Given the description of an element on the screen output the (x, y) to click on. 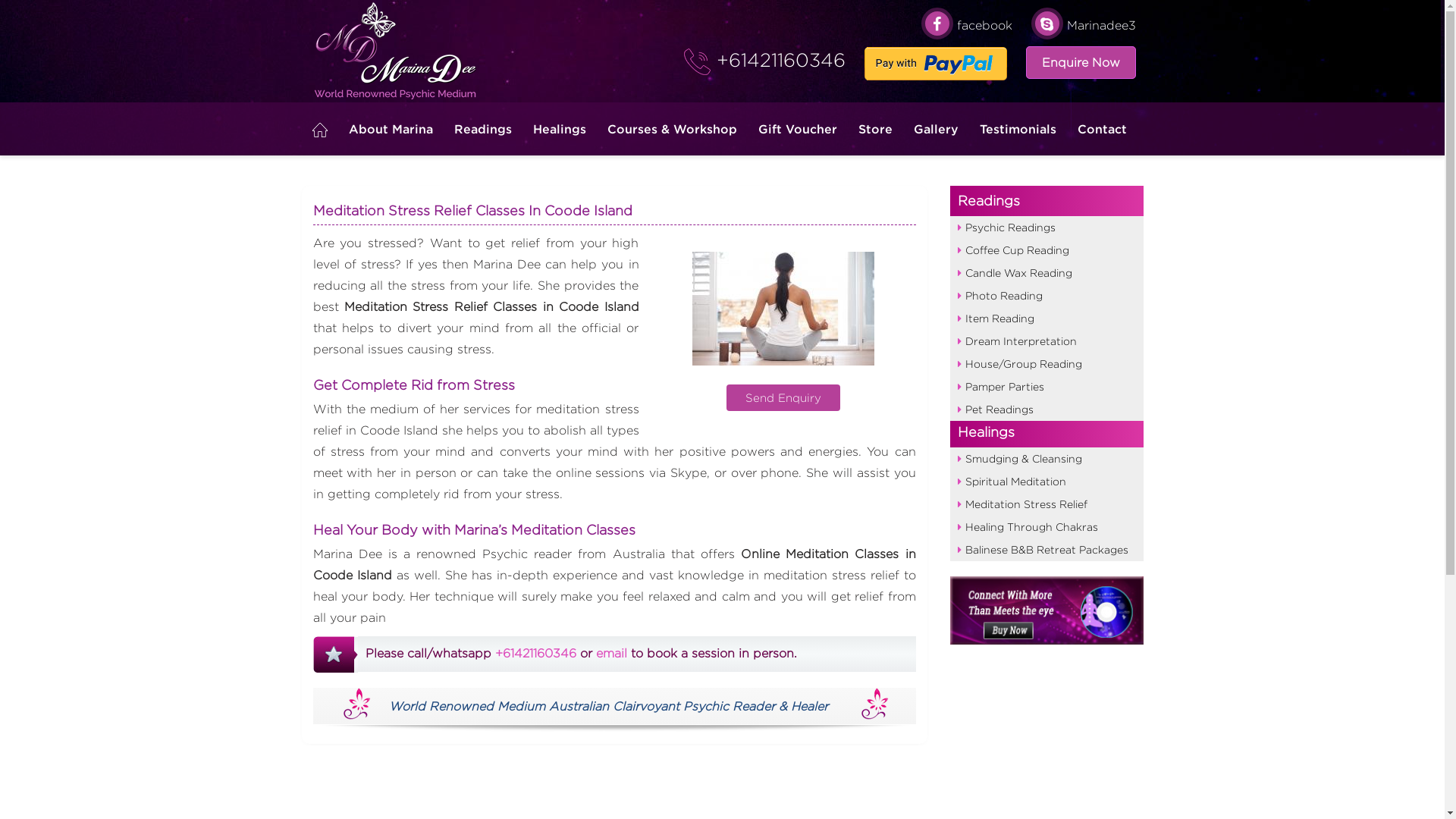
Marina Dee - Best Australian Clairvoyant Element type: hover (396, 51)
Meditation Stress Relief Element type: text (1045, 503)
Gallery Element type: text (935, 128)
Pamper Parties Element type: text (1045, 386)
+61421160346 Element type: text (776, 59)
Psychic Readings Element type: text (1045, 227)
Photo Reading Element type: text (1045, 295)
Healings Element type: text (558, 128)
Marinadee3 Element type: text (1083, 24)
Send Enquiry Element type: text (783, 318)
Balinese B&B Retreat Packages Element type: text (1045, 549)
Coffee Cup Reading Element type: text (1045, 249)
Smudging & Cleansing Element type: text (1045, 458)
House/Group Reading Element type: text (1045, 363)
Store Element type: text (875, 128)
Item Reading Element type: text (1045, 318)
Readings Element type: text (481, 128)
Meditation Stress Relief in Coode Island Element type: hover (782, 308)
Candle Wax Reading Element type: text (1045, 272)
Courses & Workshop Element type: text (671, 128)
Gift Voucher Element type: text (797, 128)
Send Enquiry Element type: text (783, 397)
Pay with Paypal Element type: hover (935, 63)
Healing Through Chakras Element type: text (1045, 526)
Pet Readings Element type: text (1045, 409)
Dream Interpretation Element type: text (1045, 340)
email Element type: text (611, 652)
Readings Element type: text (1045, 200)
facebook Element type: text (965, 24)
About Marina Element type: text (390, 128)
Contact Element type: text (1099, 128)
Spiritual Meditation Element type: text (1045, 481)
Healings Element type: text (1045, 331)
Home Element type: hover (319, 129)
Book Appointment for Coffee Cup Reading Element type: hover (334, 654)
Right Banner Element type: hover (1045, 610)
Home Element type: hover (319, 128)
+61421160346 Element type: text (536, 652)
Testimonials Element type: text (1017, 128)
Enquire Now Element type: text (1080, 62)
